Given the description of an element on the screen output the (x, y) to click on. 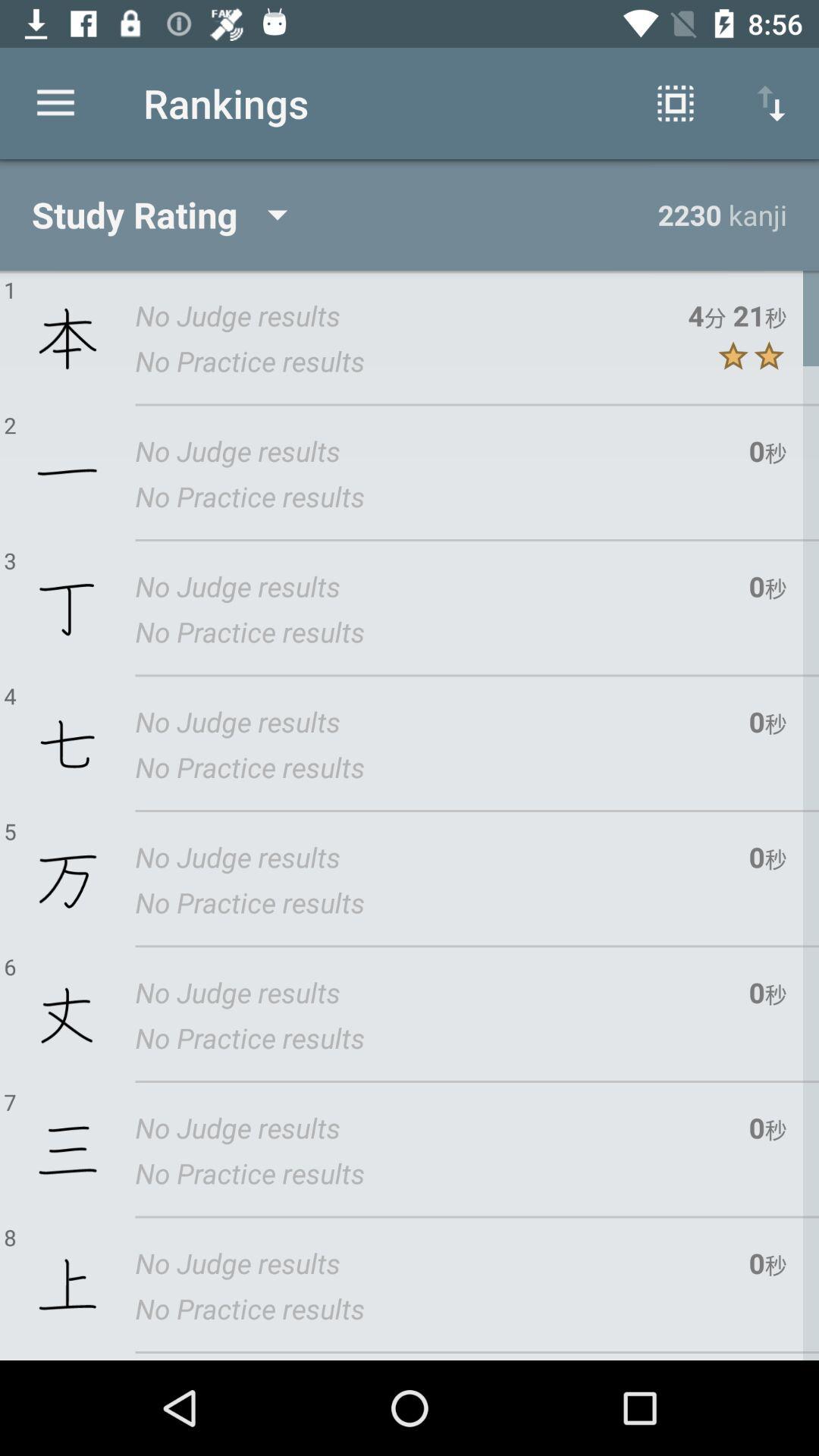
click on first icon right to rankings (675, 103)
